Given the description of an element on the screen output the (x, y) to click on. 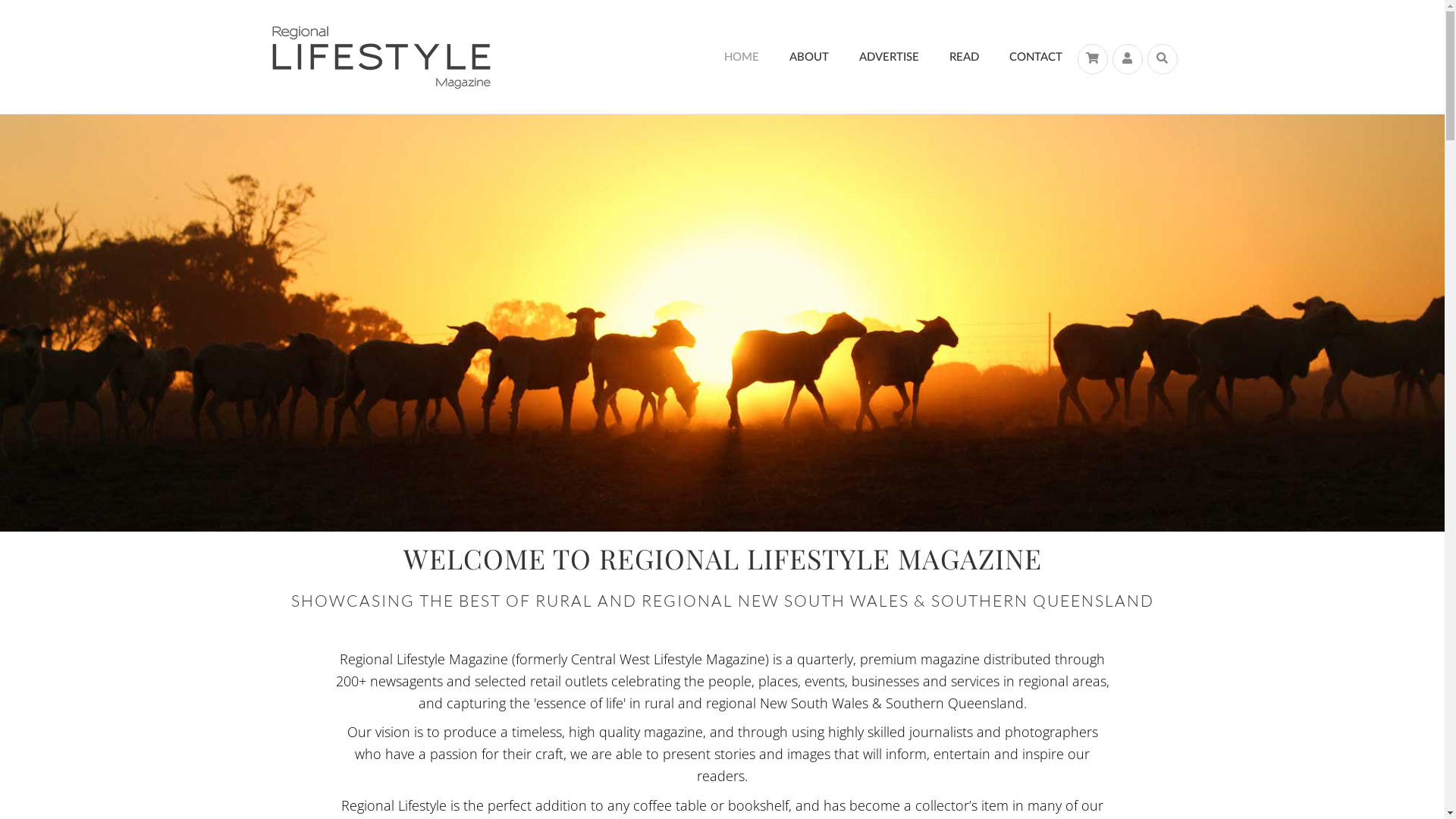
My Cart Element type: hover (1091, 58)
ABOUT Element type: text (808, 56)
ADVERTISE Element type: text (888, 56)
HOME Element type: text (740, 56)
My Account Element type: hover (1126, 58)
CONTACT Element type: text (1034, 56)
READ Element type: text (964, 56)
